Given the description of an element on the screen output the (x, y) to click on. 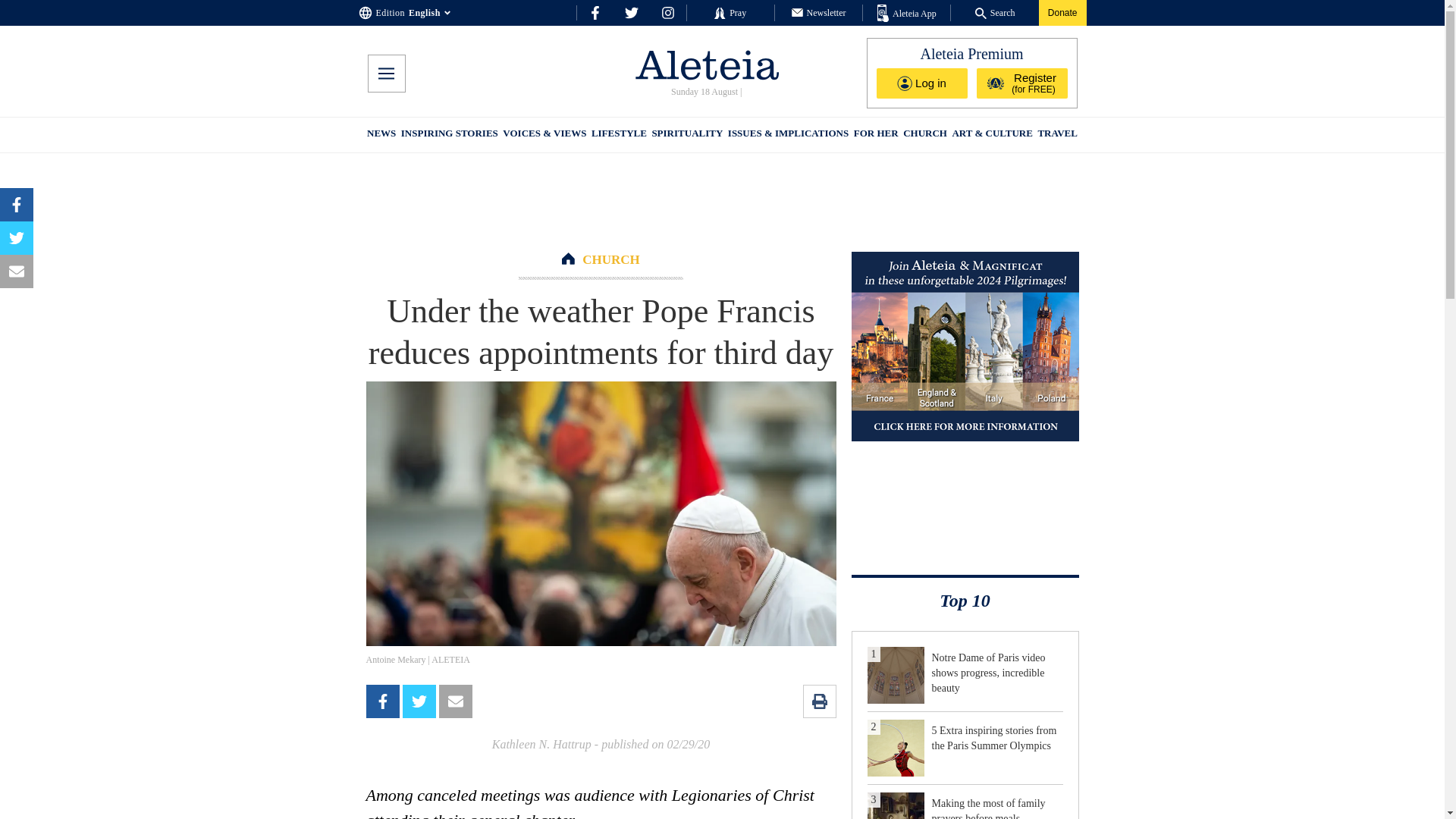
social-tw-top-row (631, 12)
TRAVEL (1056, 134)
FOR HER (875, 134)
Kathleen N. Hattrup (541, 744)
CHURCH (611, 259)
Pray (729, 12)
Search (994, 12)
Donate (1062, 12)
social-fb-top-row (595, 12)
social-ig-top-row (668, 12)
